Given the description of an element on the screen output the (x, y) to click on. 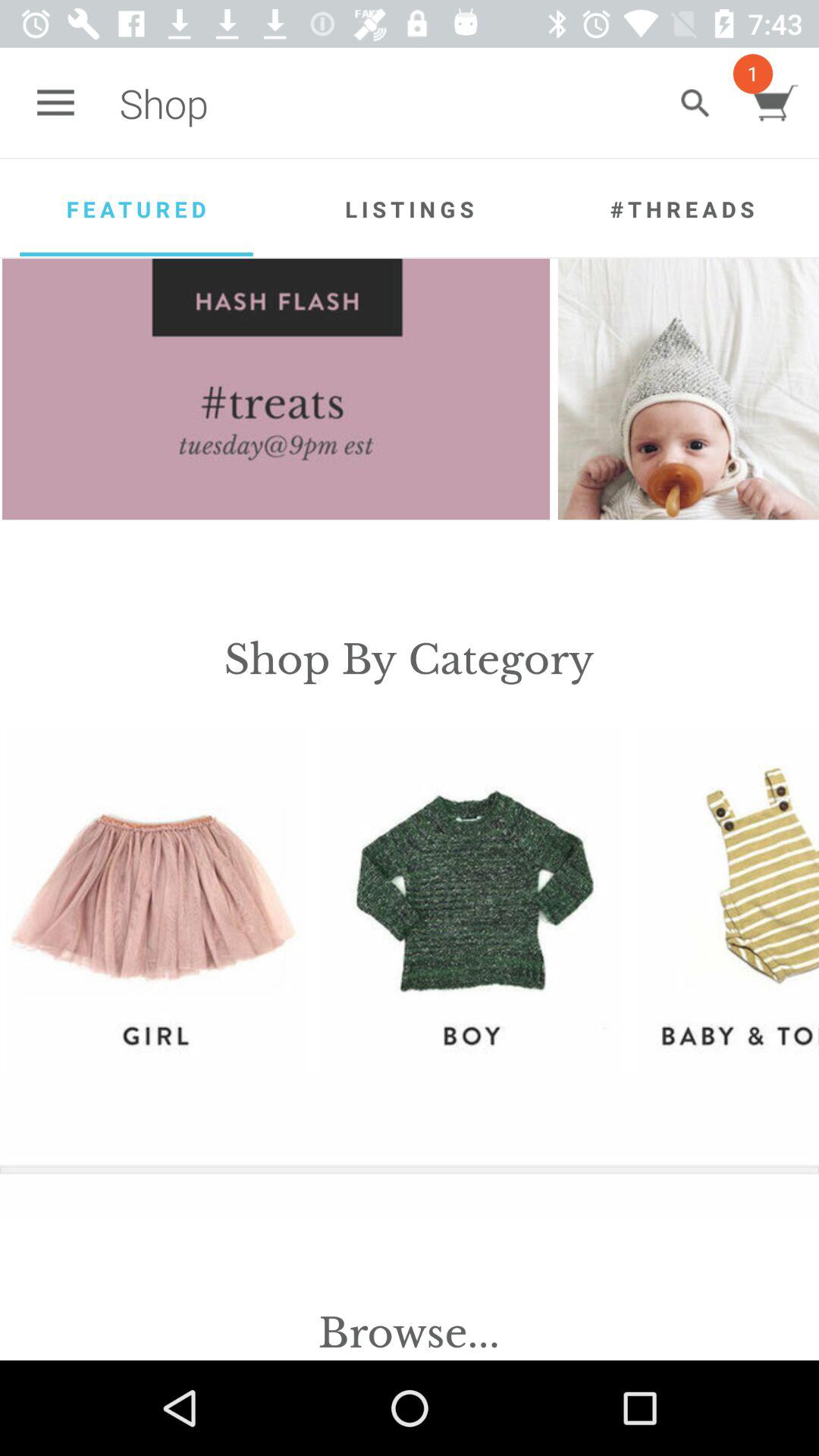
flip until shop by category icon (409, 659)
